Given the description of an element on the screen output the (x, y) to click on. 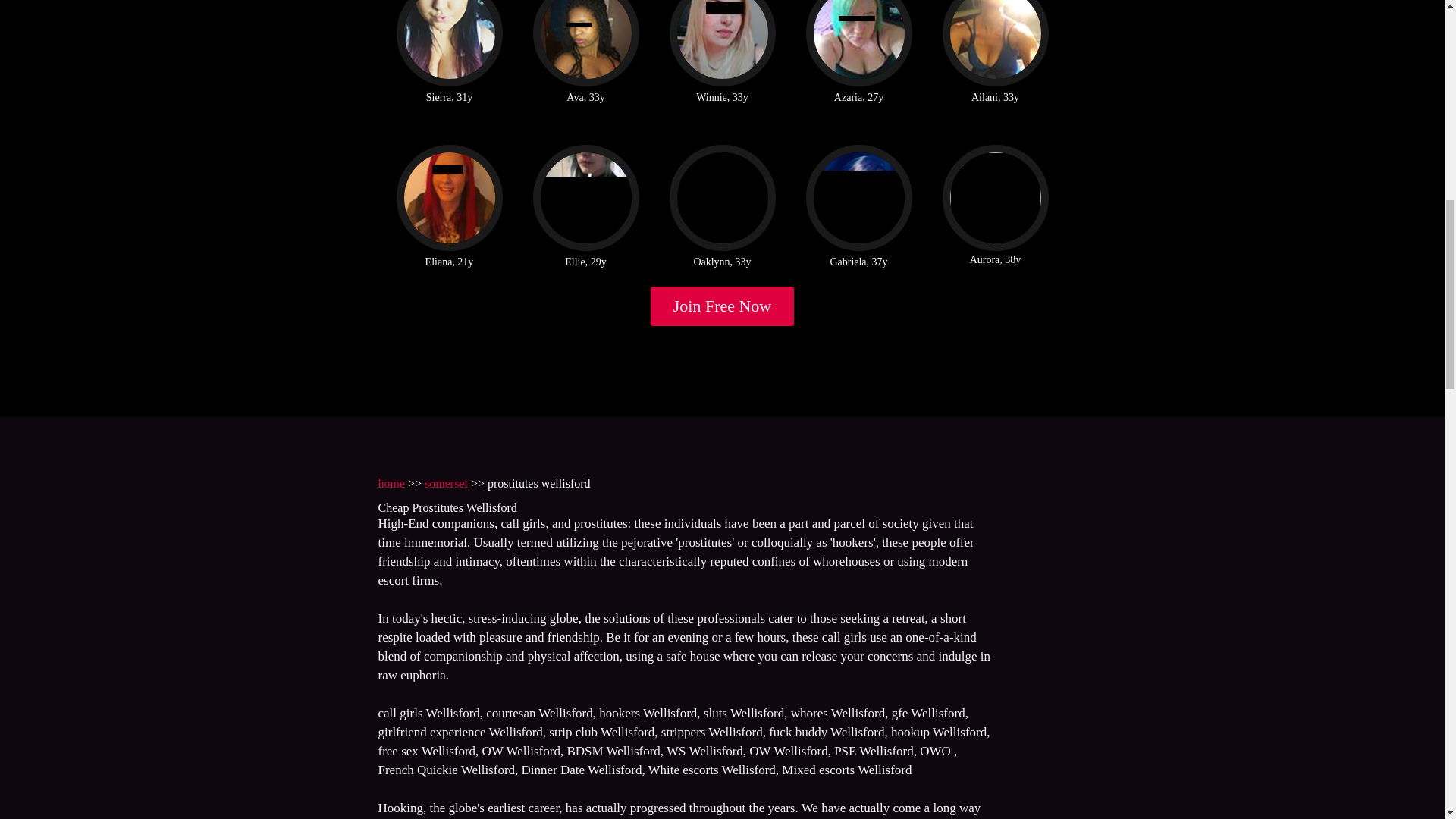
somerset (446, 482)
Join Free Now (722, 305)
Join (722, 305)
home (390, 482)
